Given the description of an element on the screen output the (x, y) to click on. 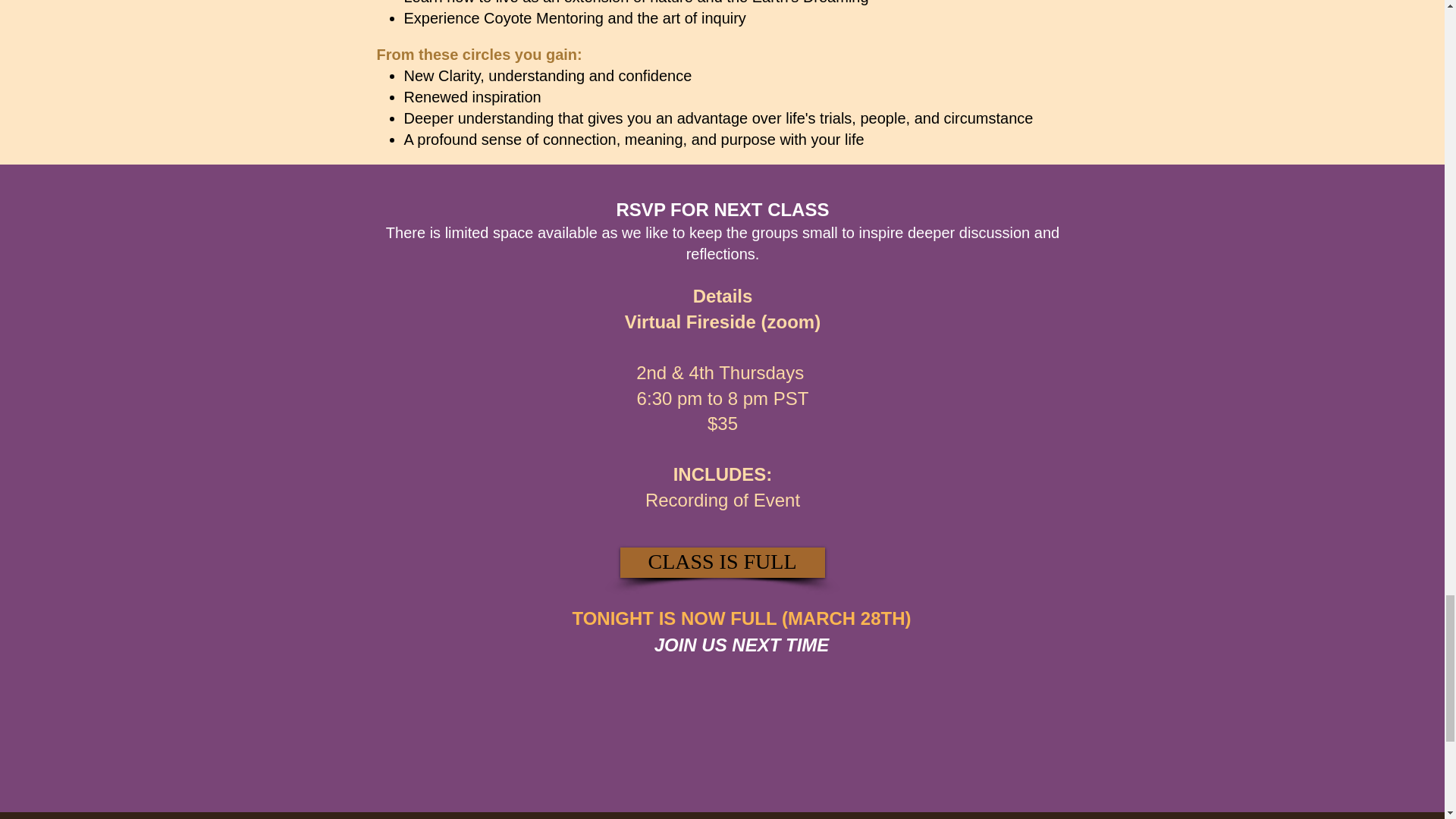
CLASS IS FULL (722, 562)
